Given the description of an element on the screen output the (x, y) to click on. 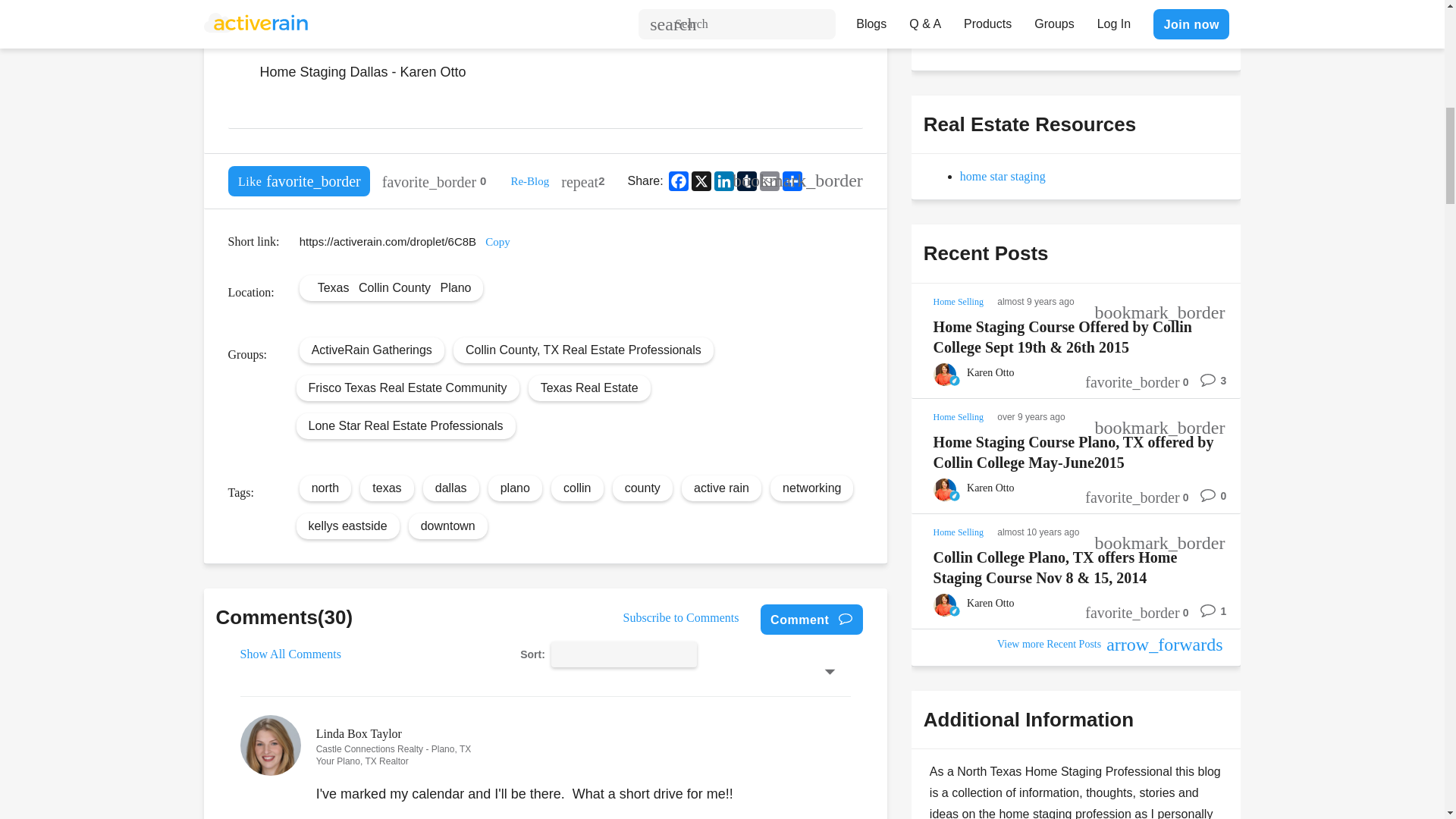
Send Message (978, 30)
Email (769, 180)
repeat 2 (582, 181)
Facebook (678, 180)
Re-Blogged 2 times (582, 181)
LinkedIn (724, 180)
Copy (497, 241)
X (701, 180)
home star staging (1002, 175)
Tumblr (746, 180)
